Given the description of an element on the screen output the (x, y) to click on. 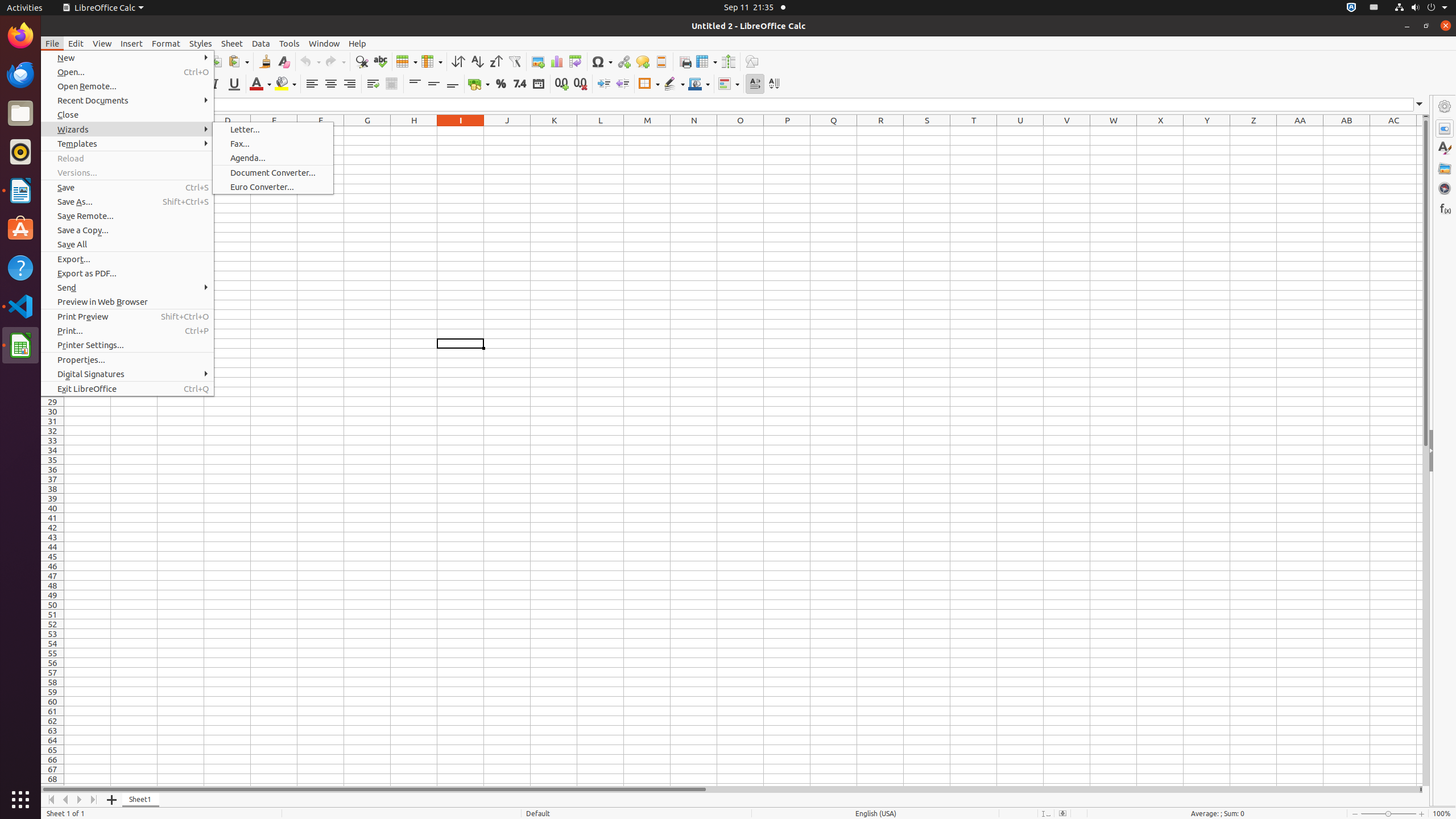
Decrease Element type: push-button (622, 83)
Border Style Element type: push-button (673, 83)
Wrap Text Element type: push-button (372, 83)
Move To End Element type: push-button (94, 799)
